Given the description of an element on the screen output the (x, y) to click on. 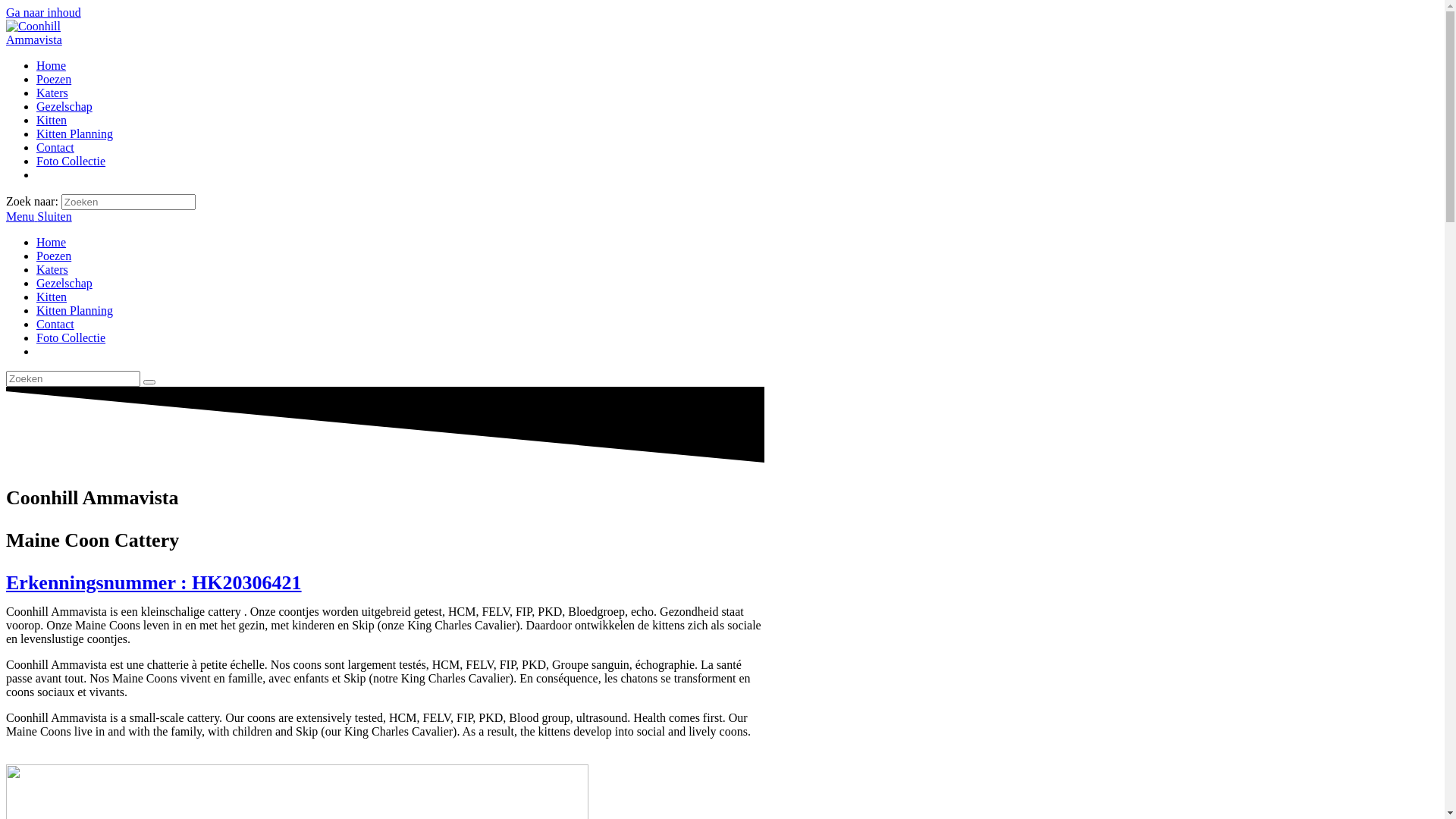
Kitten Element type: text (51, 119)
Contact Element type: text (55, 323)
Katers Element type: text (52, 92)
Home Element type: text (50, 241)
Kitten Planning Element type: text (74, 133)
Foto Collectie Element type: text (70, 160)
Katers Element type: text (52, 269)
Home Element type: text (50, 65)
Foto Collectie Element type: text (70, 337)
Kitten Planning Element type: text (74, 310)
Contact Element type: text (55, 147)
Poezen Element type: text (53, 78)
Kitten Element type: text (51, 296)
Menu Sluiten Element type: text (39, 216)
Poezen Element type: text (53, 255)
Gezelschap Element type: text (64, 106)
Erkenningsnummer : HK20306421 Element type: text (153, 582)
Gezelschap Element type: text (64, 282)
Ga naar inhoud Element type: text (43, 12)
